Given the description of an element on the screen output the (x, y) to click on. 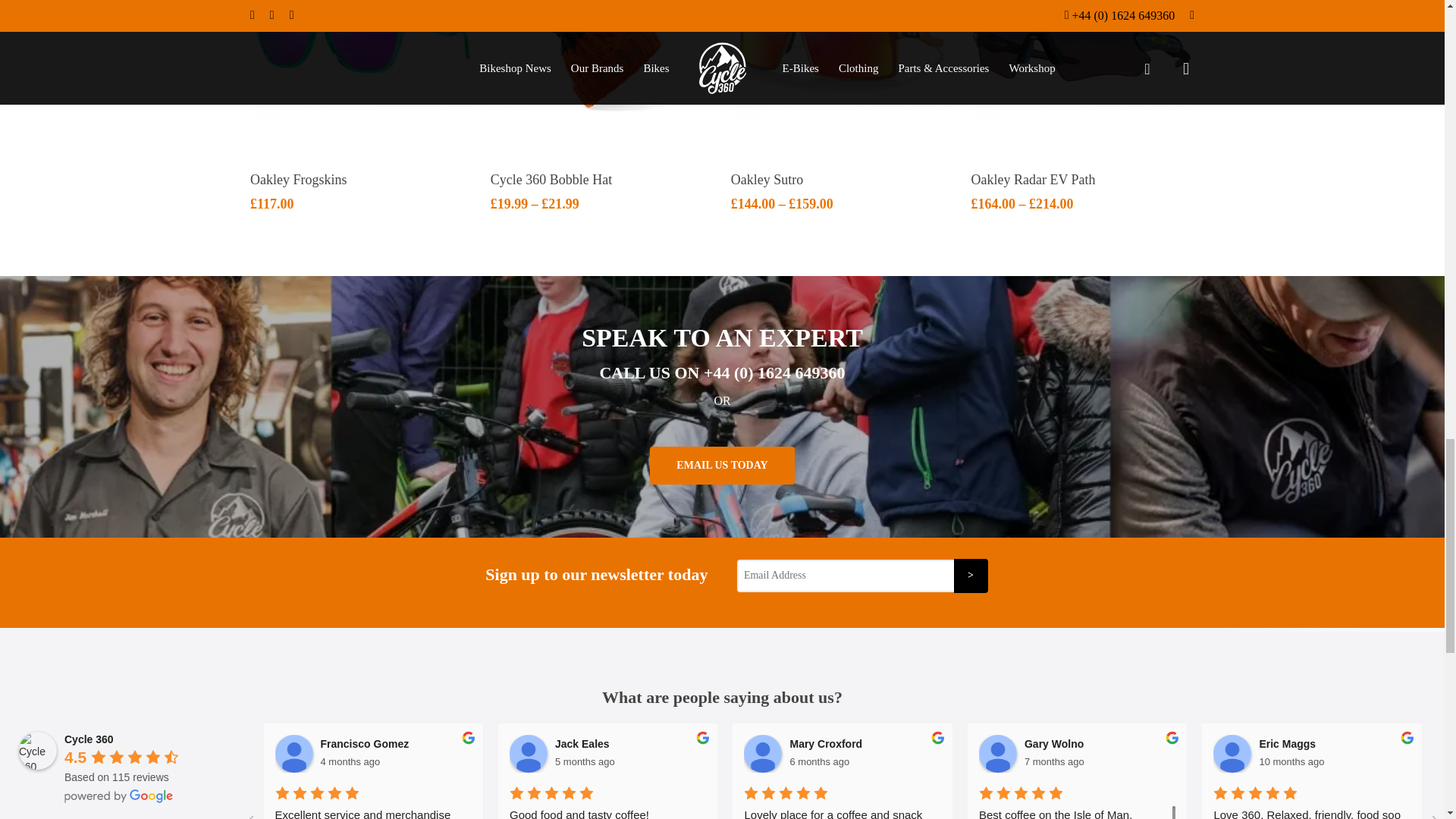
Mary Croxford (762, 753)
powered by Google (118, 796)
Cycle 360 (37, 750)
Jack Eales (528, 753)
Francisco Gomez (294, 753)
Eric Maggs (1231, 753)
Gary Wolno (997, 753)
